Given the description of an element on the screen output the (x, y) to click on. 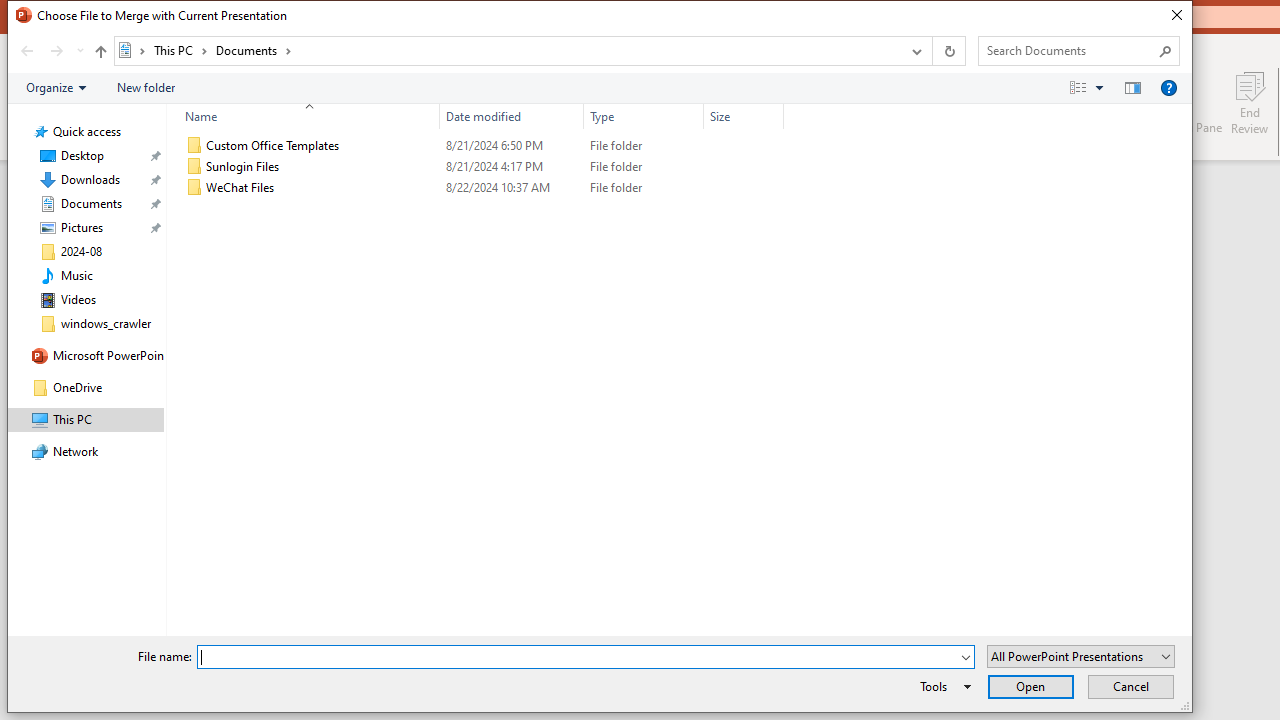
Previous Locations (914, 51)
